Given the description of an element on the screen output the (x, y) to click on. 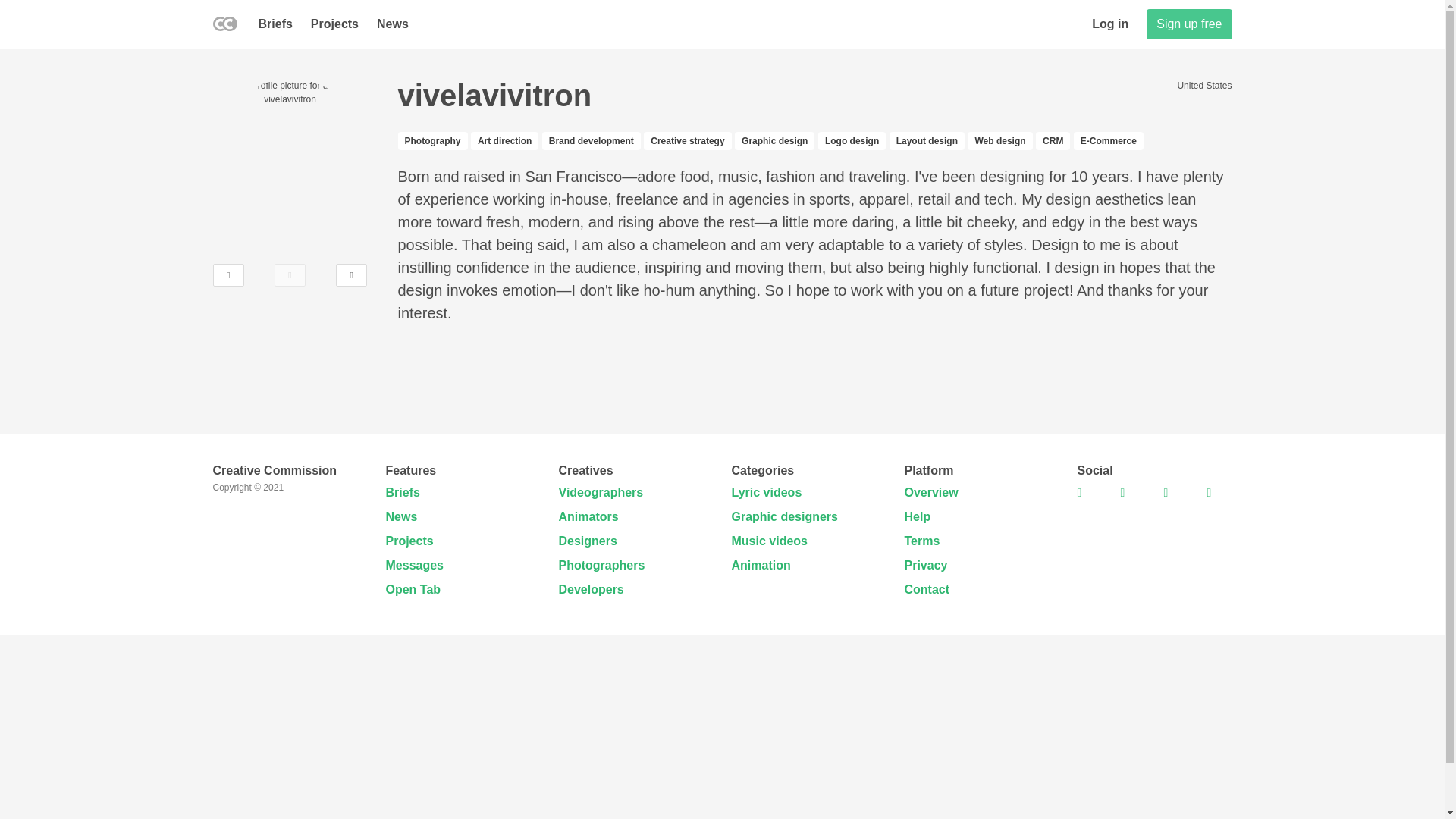
Projects (408, 540)
Log in (1110, 24)
Animation (760, 564)
Logo design (852, 141)
News (392, 24)
Music videos (768, 540)
Designers (586, 540)
E-Commerce (1108, 141)
Animators (587, 516)
Home (223, 26)
Photography (432, 141)
Projects (334, 24)
Videographers (600, 492)
Messages (414, 564)
